Given the description of an element on the screen output the (x, y) to click on. 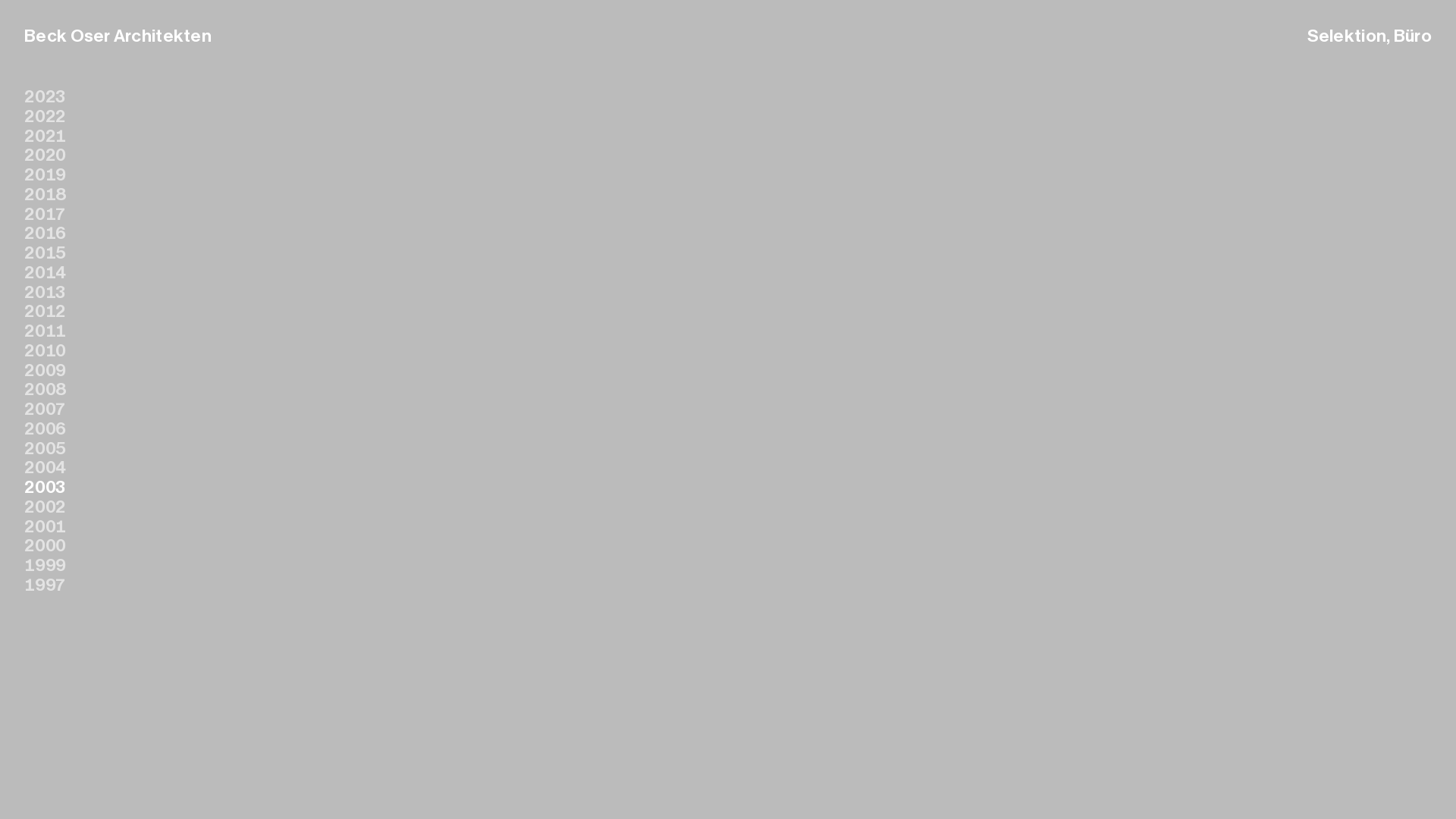
2010 Element type: text (44, 350)
2014 Element type: text (44, 272)
2003 Element type: text (45, 487)
2007 Element type: text (44, 408)
2005 Element type: text (44, 448)
2001 Element type: text (44, 525)
2013 Element type: text (44, 292)
2000 Element type: text (44, 545)
Selektion Element type: text (1346, 35)
2016 Element type: text (44, 232)
Beck Oser Architekten Element type: text (117, 35)
2008 Element type: text (45, 389)
2004 Element type: text (44, 467)
2021 Element type: text (44, 135)
2023 Element type: text (44, 96)
2009 Element type: text (44, 369)
2018 Element type: text (45, 194)
2011 Element type: text (44, 330)
2002 Element type: text (44, 506)
2006 Element type: text (44, 428)
2012 Element type: text (44, 311)
2022 Element type: text (44, 116)
2015 Element type: text (44, 252)
2020 Element type: text (44, 154)
1999 Element type: text (44, 565)
2019 Element type: text (44, 174)
1997 Element type: text (44, 584)
2017 Element type: text (44, 213)
